Given the description of an element on the screen output the (x, y) to click on. 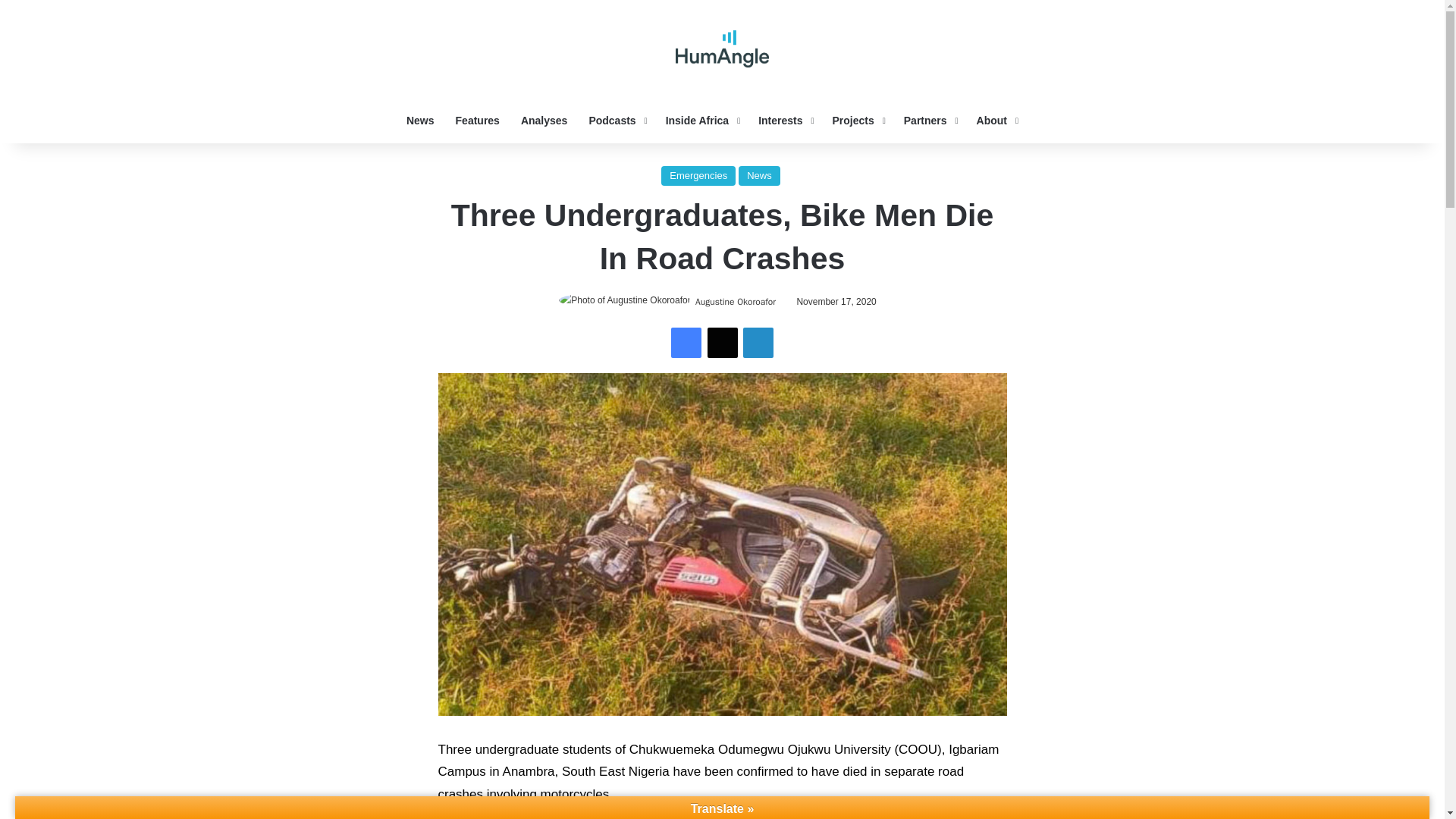
Augustine Okoroafor (735, 301)
HumAngle (721, 48)
Features (478, 120)
Facebook (686, 342)
Interests (784, 120)
News (420, 120)
X (721, 342)
Analyses (544, 120)
Podcasts (615, 120)
Inside Africa (701, 120)
